Given the description of an element on the screen output the (x, y) to click on. 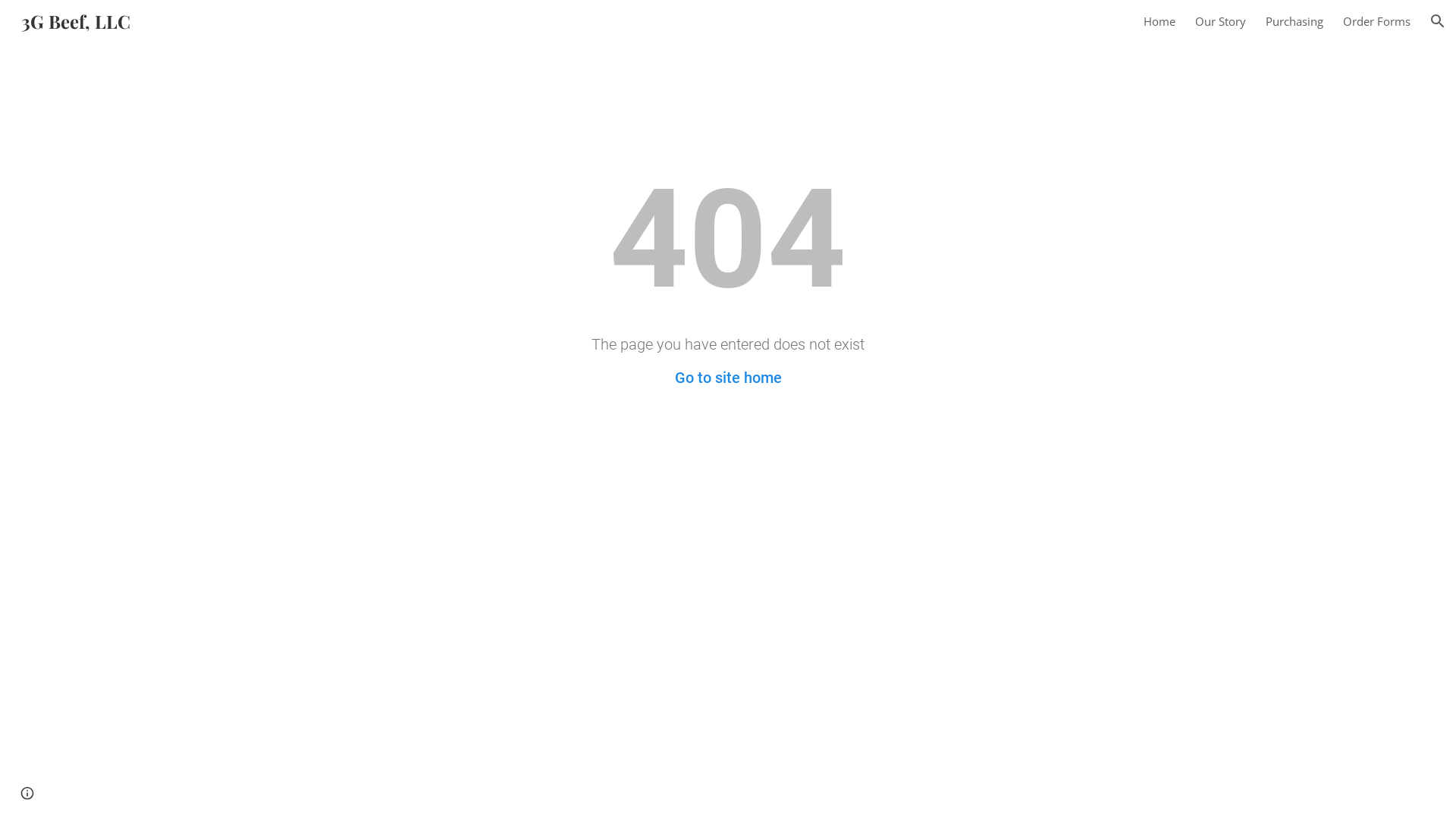
Our Story Element type: text (1220, 20)
3G Beef, LLC Element type: text (75, 18)
Purchasing Element type: text (1294, 20)
Go to site home Element type: text (727, 377)
Order Forms Element type: text (1376, 20)
Home Element type: text (1159, 20)
